Given the description of an element on the screen output the (x, y) to click on. 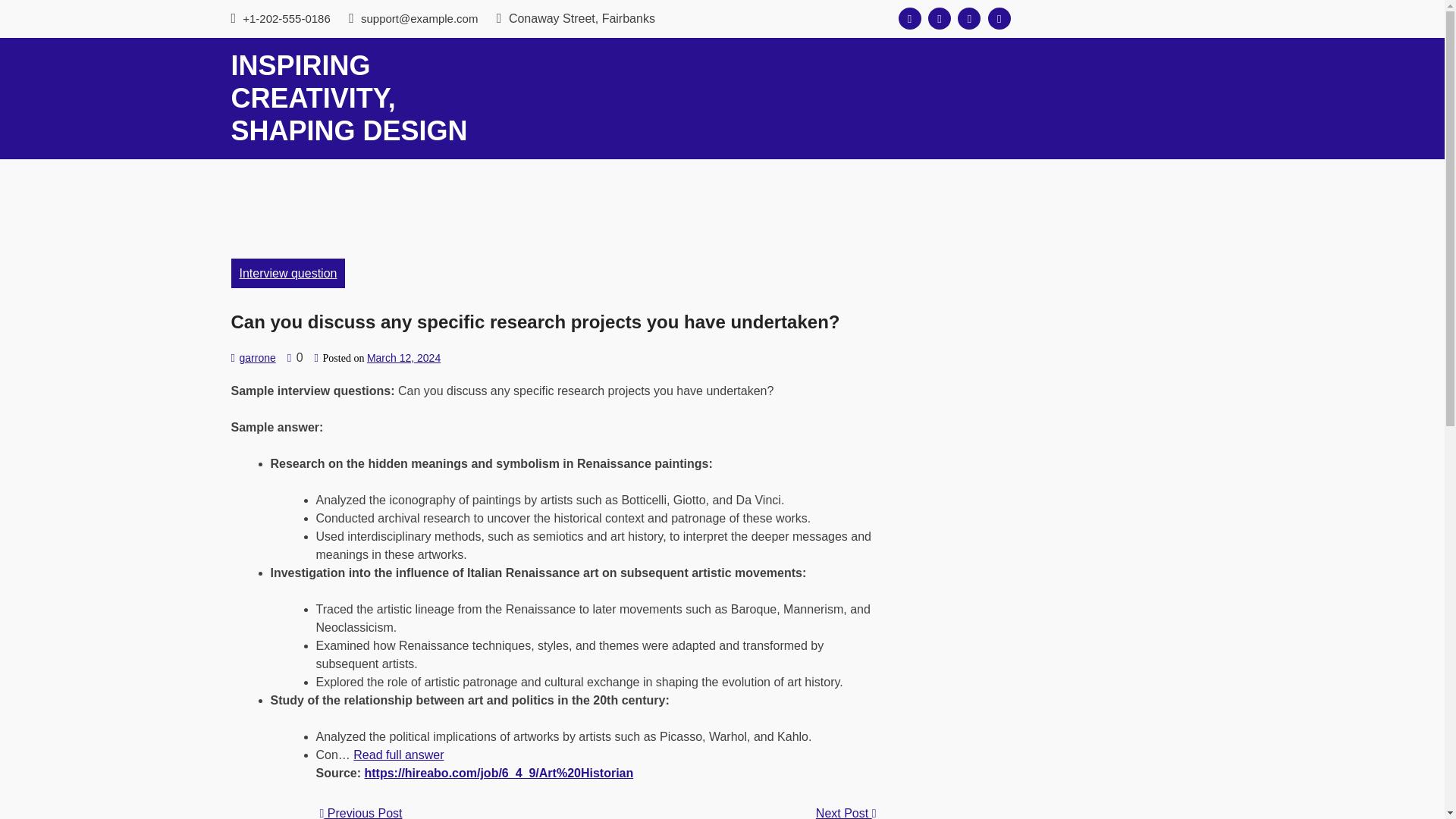
Read full answer (398, 754)
Interview question (287, 273)
Next Post (845, 811)
garrone (256, 357)
March 12, 2024 (403, 357)
Previous Post (361, 812)
INSPIRING CREATIVITY, SHAPING DESIGN (348, 97)
Inspiring Creativity, Shaping Design (348, 97)
